Given the description of an element on the screen output the (x, y) to click on. 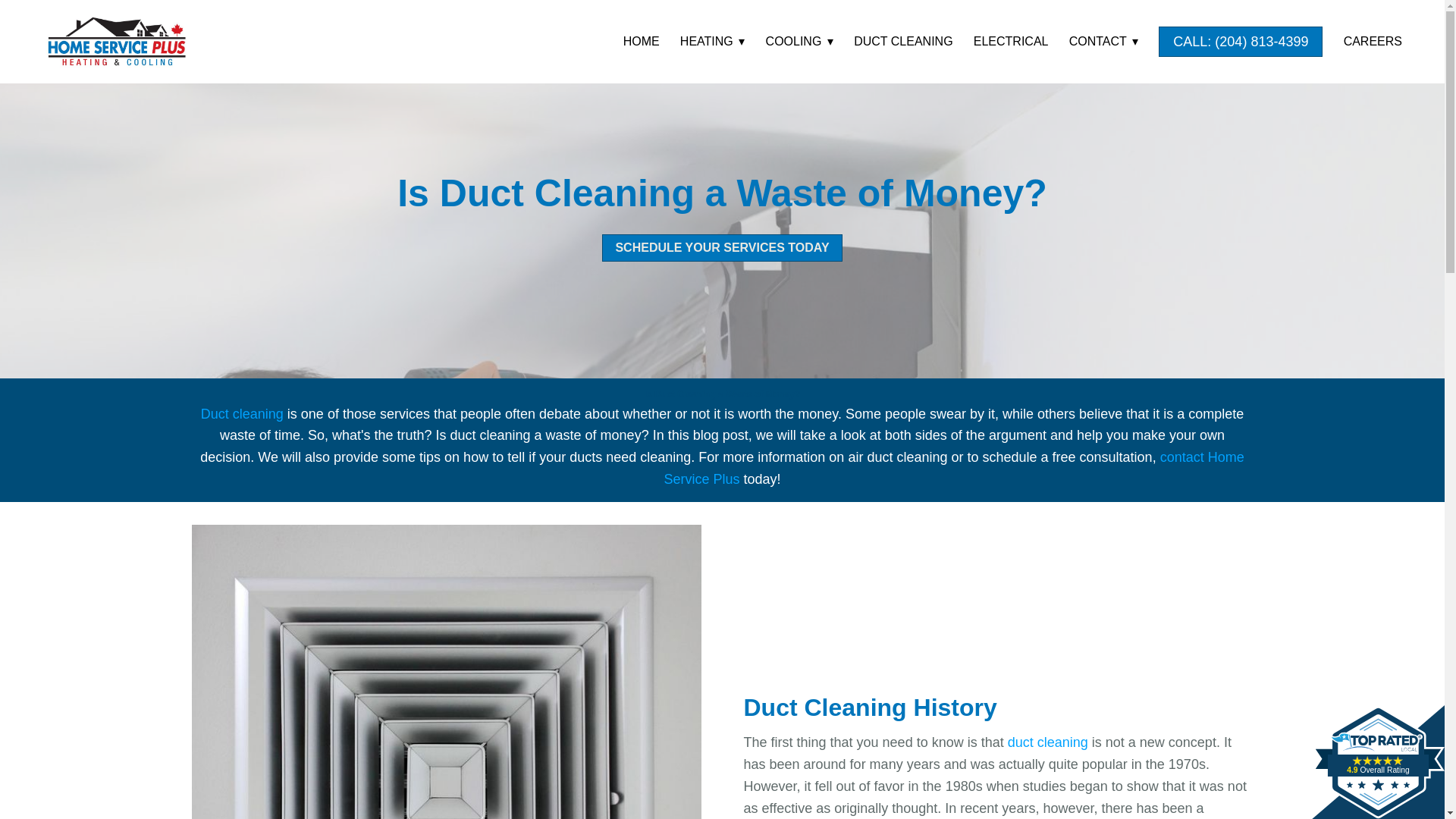
HOME (641, 41)
contact Home Service Plus (953, 467)
duct cleaning (1047, 742)
DUCT CLEANING (902, 41)
Home Service Plus (116, 41)
ELECTRICAL (1011, 41)
CAREERS (1372, 41)
SCHEDULE YOUR SERVICES TODAY (721, 247)
Duct cleaning (241, 413)
